Given the description of an element on the screen output the (x, y) to click on. 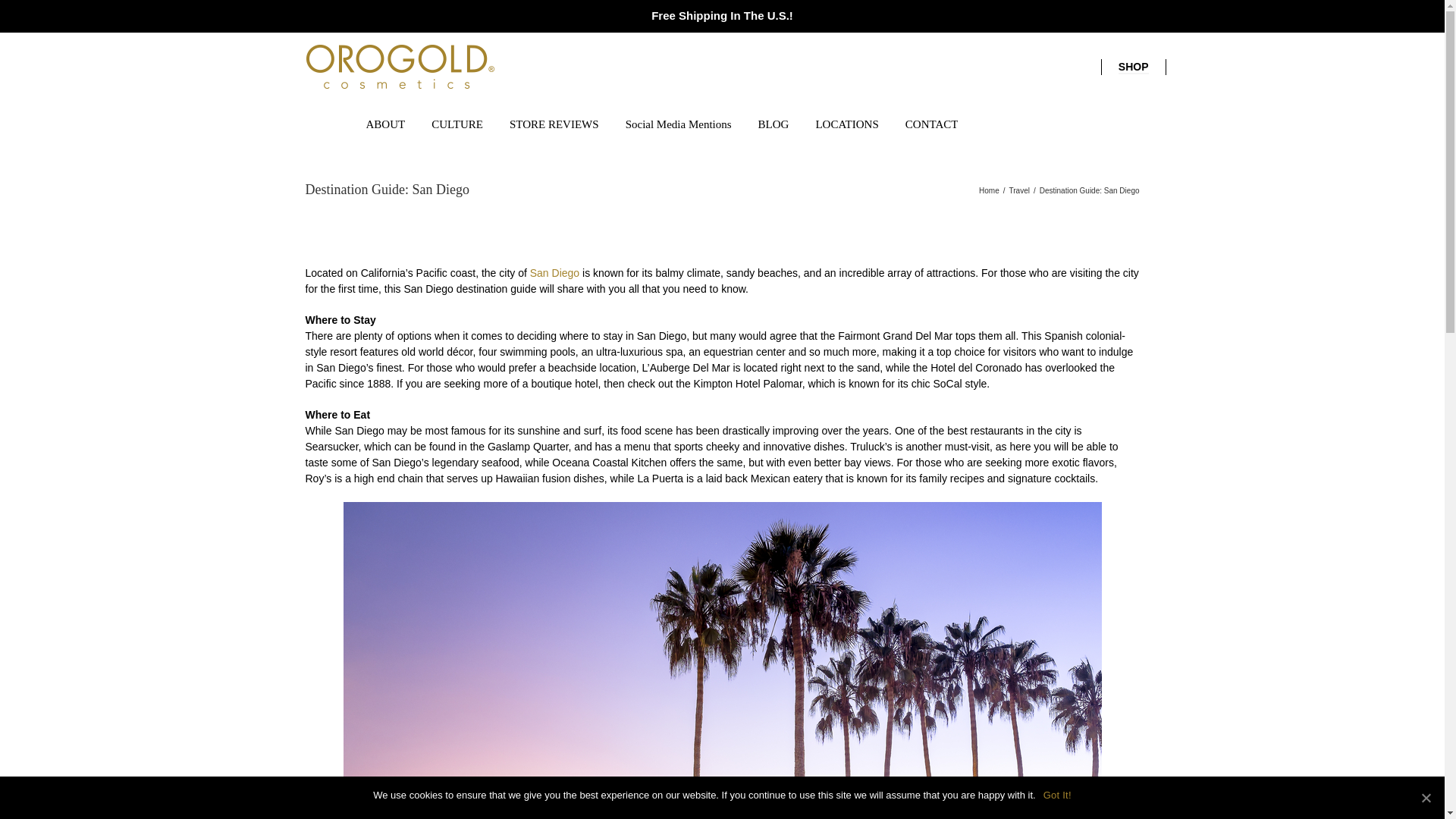
San Diego (554, 272)
LOCATIONS (846, 123)
Social Media Mentions (679, 123)
Travel (1019, 190)
STORE REVIEWS (553, 123)
Home (988, 190)
SHOP (1133, 66)
